Given the description of an element on the screen output the (x, y) to click on. 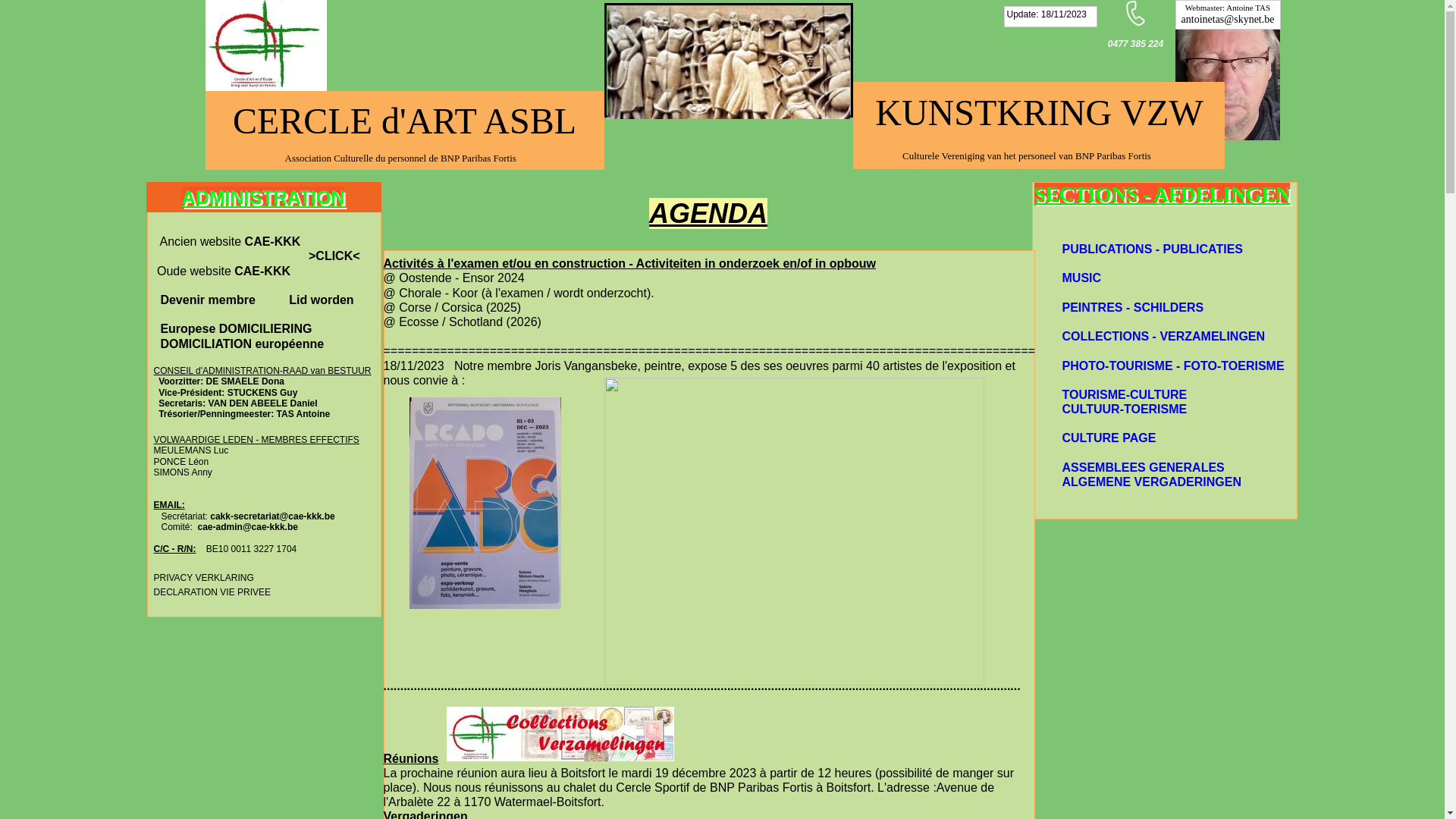
0477 385 224 Element type: text (1135, 43)
CULTUUR-TOERISME Element type: text (1123, 408)
COLLECTIONS - VERZAMELINGEN Element type: text (1162, 335)
MUSIC Element type: text (1081, 277)
TOURISME-CULTURE Element type: text (1123, 394)
  Element type: text (154, 241)
PUBLICATIONS - PUBLICATIES Element type: text (1151, 248)
DECLARATION VIE PRIVEE Element type: text (211, 590)
CULTURE PAGE Element type: text (1108, 437)
PEINTRES - SCHILDERS Element type: text (1132, 307)
 Lid worden Element type: text (319, 299)
>CLICK< Element type: text (334, 255)
PRIVACY VERKLARING Element type: text (203, 576)
ASSEMBLEES GENERALES Element type: text (1142, 467)
  Europese DOMICILIERING Element type: text (232, 328)
  Devenir membre        Element type: text (217, 299)
PHOTO-TOURISME - FOTO-TOERISME Element type: text (1172, 365)
ALGEMENE VERGADERINGEN Element type: text (1150, 481)
